Given the description of an element on the screen output the (x, y) to click on. 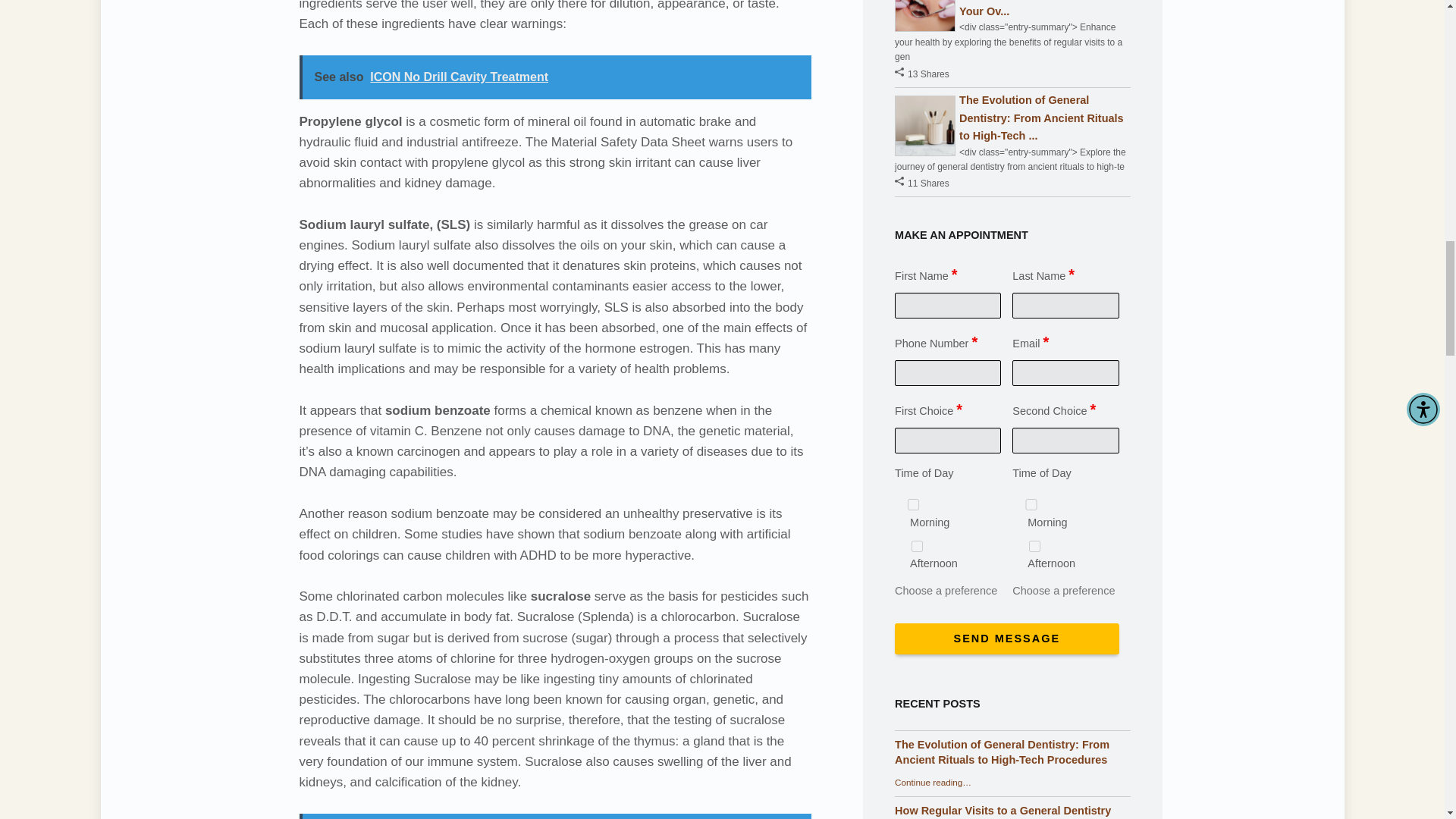
Morning (913, 503)
Morning (1030, 503)
Afternoon (917, 545)
Send Message (1006, 638)
Afternoon (1034, 545)
